Given the description of an element on the screen output the (x, y) to click on. 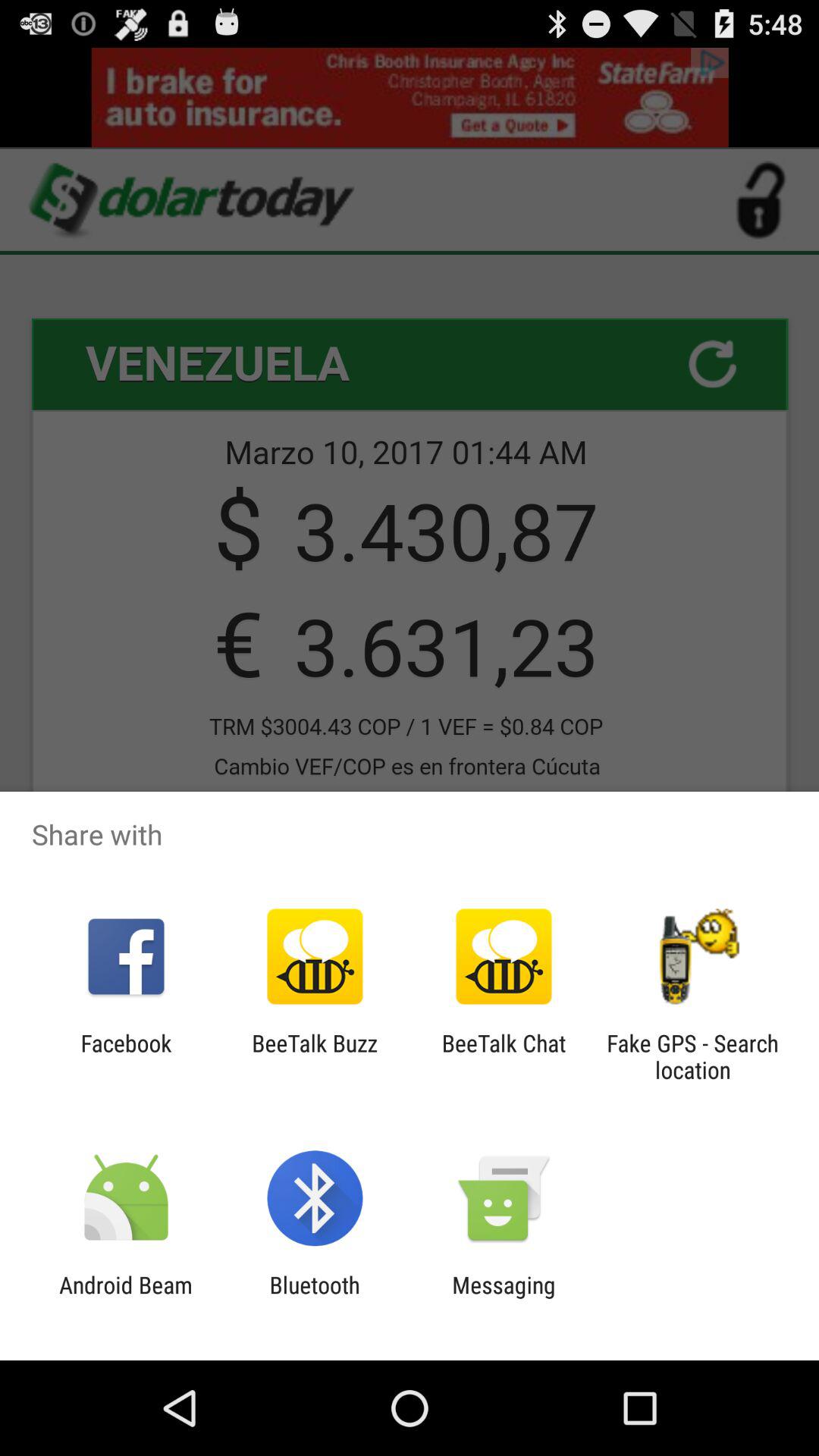
turn on app to the left of the fake gps search item (503, 1056)
